Given the description of an element on the screen output the (x, y) to click on. 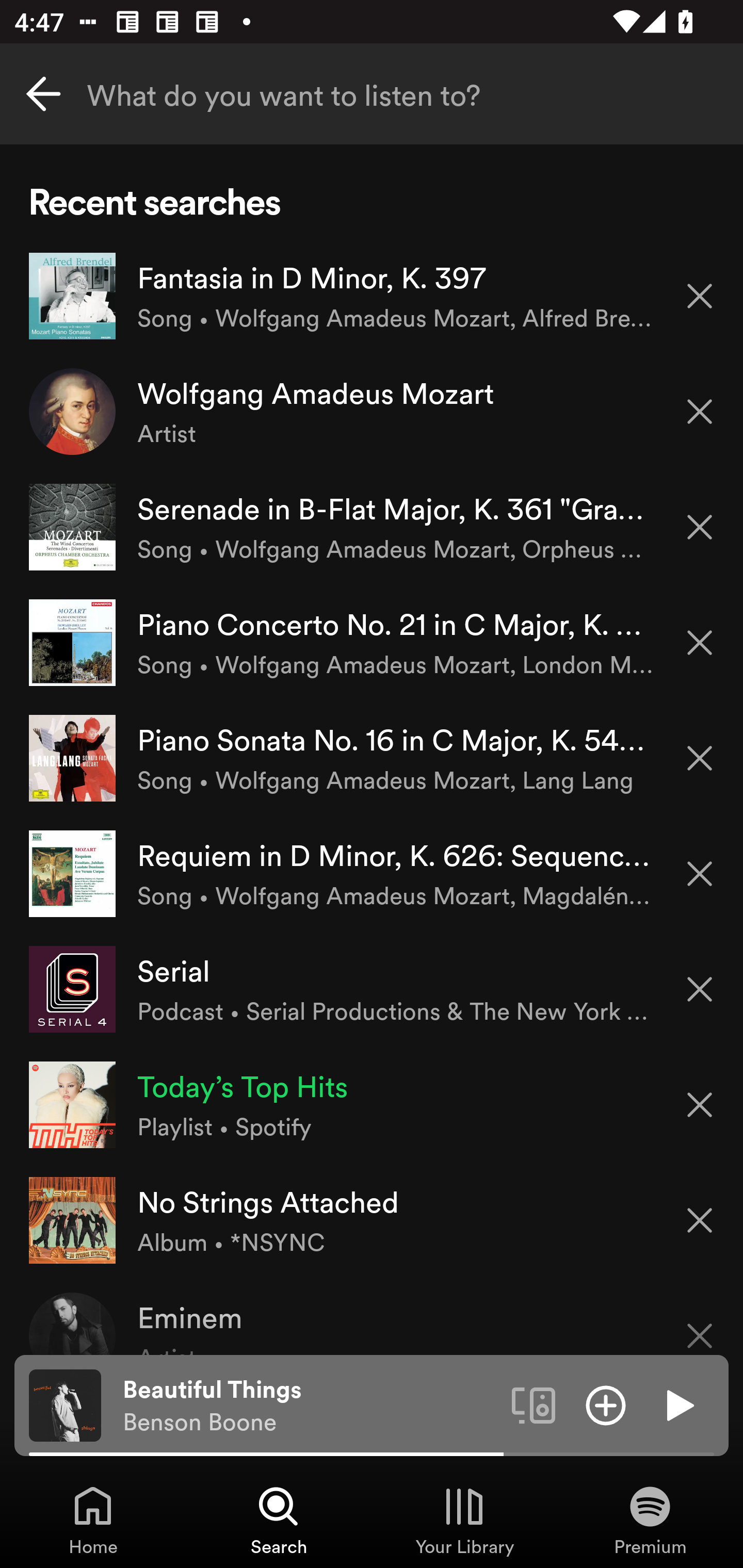
What do you want to listen to? (371, 93)
Cancel (43, 93)
Remove (699, 295)
Wolfgang Amadeus Mozart Artist Remove (371, 411)
Remove (699, 411)
Remove (699, 527)
Remove (699, 642)
Remove (699, 758)
Remove (699, 874)
Remove (699, 989)
Today’s Top Hits Playlist • Spotify Remove (371, 1104)
Remove (699, 1104)
No Strings Attached Album • *NSYNC Remove (371, 1219)
Remove (699, 1220)
Eminem Artist Remove (371, 1315)
Remove (699, 1323)
Beautiful Things Benson Boone (309, 1405)
The cover art of the currently playing track (64, 1404)
Connect to a device. Opens the devices menu (533, 1404)
Add item (605, 1404)
Play (677, 1404)
Home, Tab 1 of 4 Home Home (92, 1519)
Search, Tab 2 of 4 Search Search (278, 1519)
Your Library, Tab 3 of 4 Your Library Your Library (464, 1519)
Premium, Tab 4 of 4 Premium Premium (650, 1519)
